Given the description of an element on the screen output the (x, y) to click on. 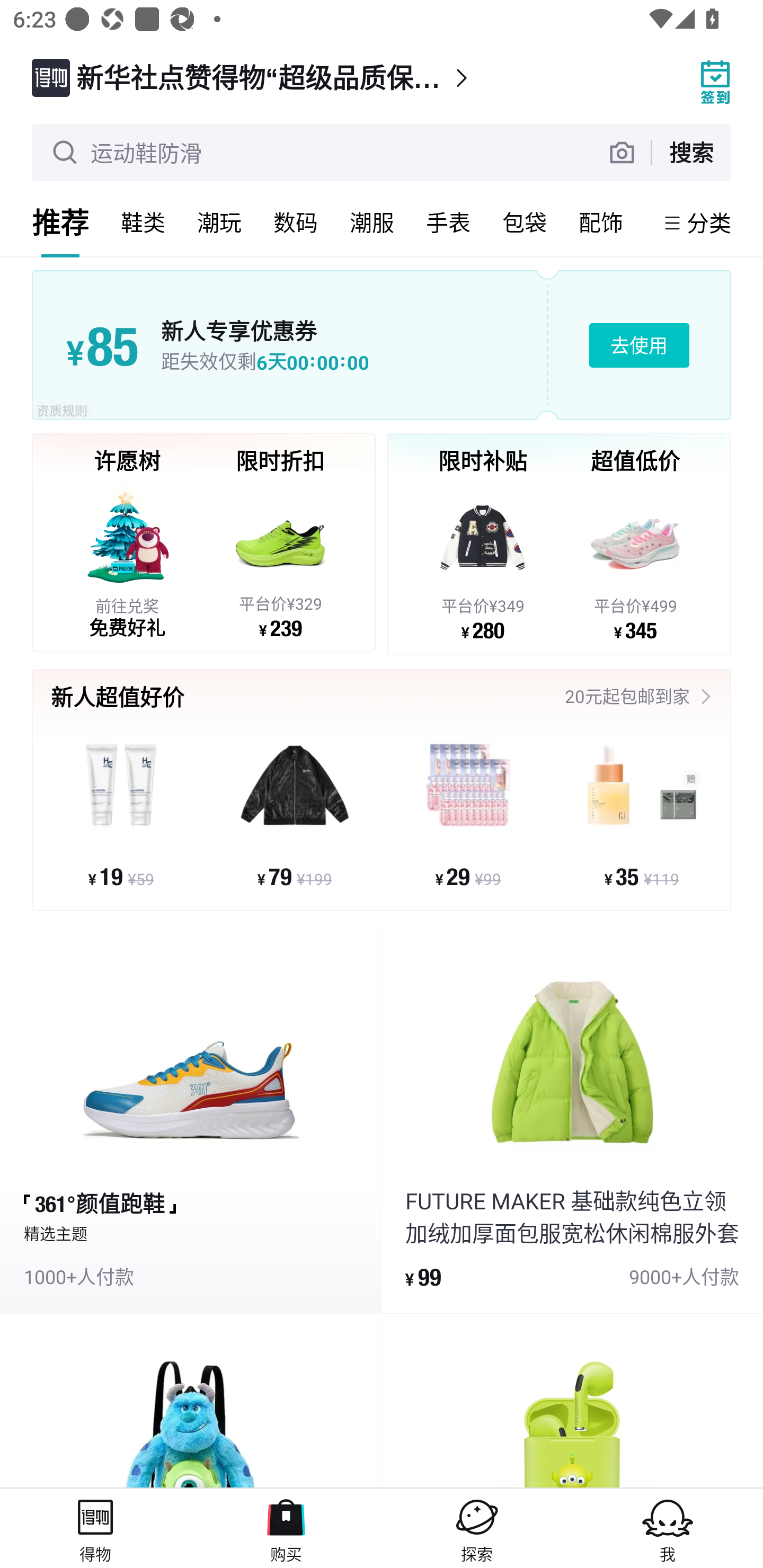
搜索 (690, 152)
推荐 (60, 222)
鞋类 (143, 222)
潮玩 (219, 222)
数码 (295, 222)
潮服 (372, 222)
手表 (448, 222)
包袋 (524, 222)
配饰 (601, 222)
分类 (708, 222)
平台价¥329 ¥ 239 (279, 559)
前往兑奖 免费好礼 (127, 559)
平台价¥349 ¥ 280 (482, 560)
平台价¥499 ¥ 345 (635, 560)
¥ 19 ¥59 (121, 813)
¥ 79 ¥199 (294, 813)
¥ 29 ¥99 (468, 813)
¥ 35 ¥119 (641, 813)
361°颜值跑鞋 精选主题 1000+人付款 (190, 1118)
product_item (190, 1400)
得物 (95, 1528)
购买 (285, 1528)
探索 (476, 1528)
我 (667, 1528)
